Given the description of an element on the screen output the (x, y) to click on. 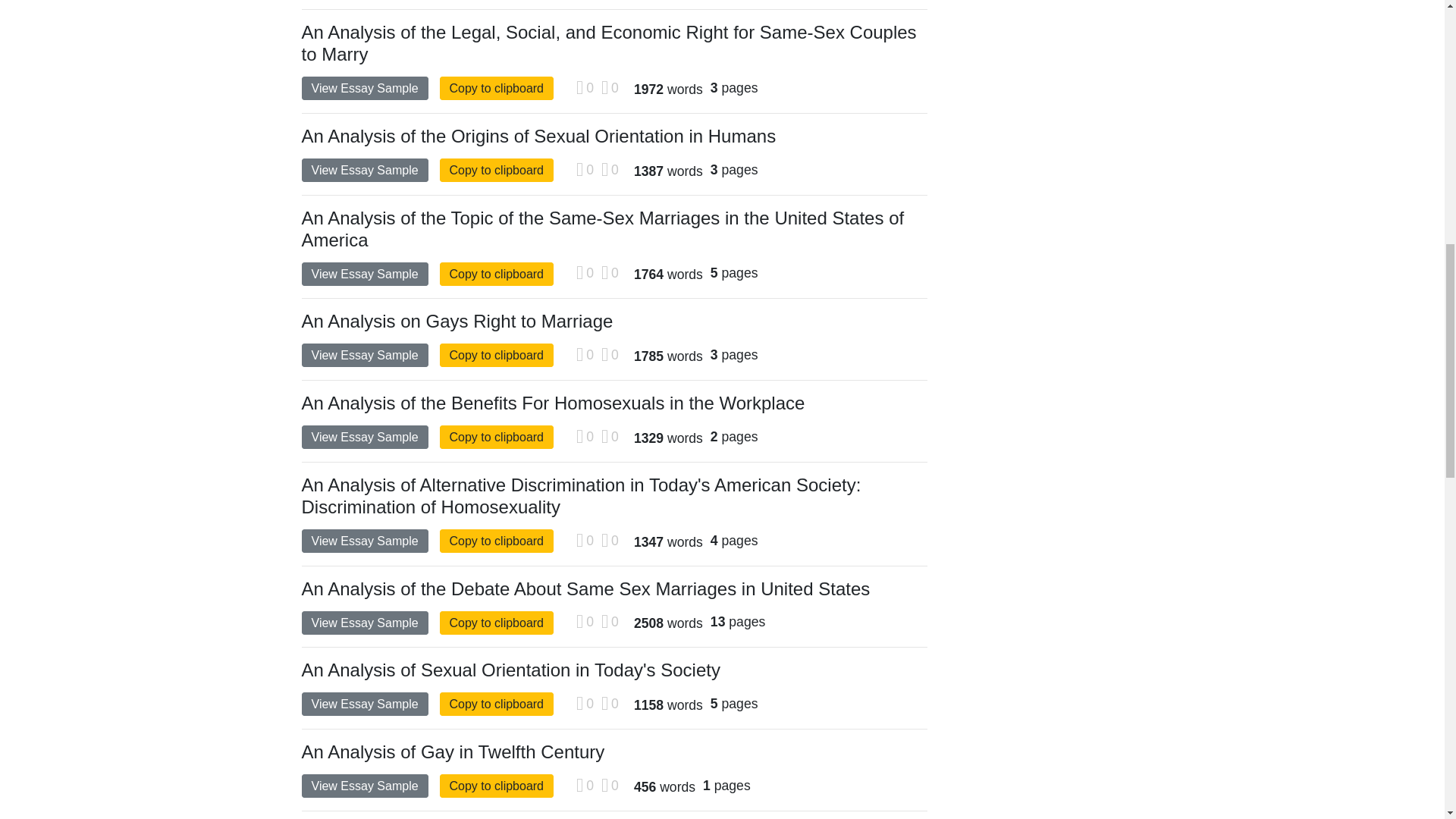
View Essay Sample (364, 622)
View Essay Sample (364, 169)
Copy to clipboard (496, 87)
Copy to clipboard (496, 354)
View Essay Sample (364, 273)
Copy to clipboard (496, 622)
Copy to clipboard (496, 273)
View Essay Sample (364, 87)
View Essay Sample (364, 785)
Copy to clipboard (496, 785)
View Essay Sample (364, 436)
Copy to clipboard (496, 169)
Copy to clipboard (496, 703)
View Essay Sample (364, 703)
View Essay Sample (364, 540)
